Given the description of an element on the screen output the (x, y) to click on. 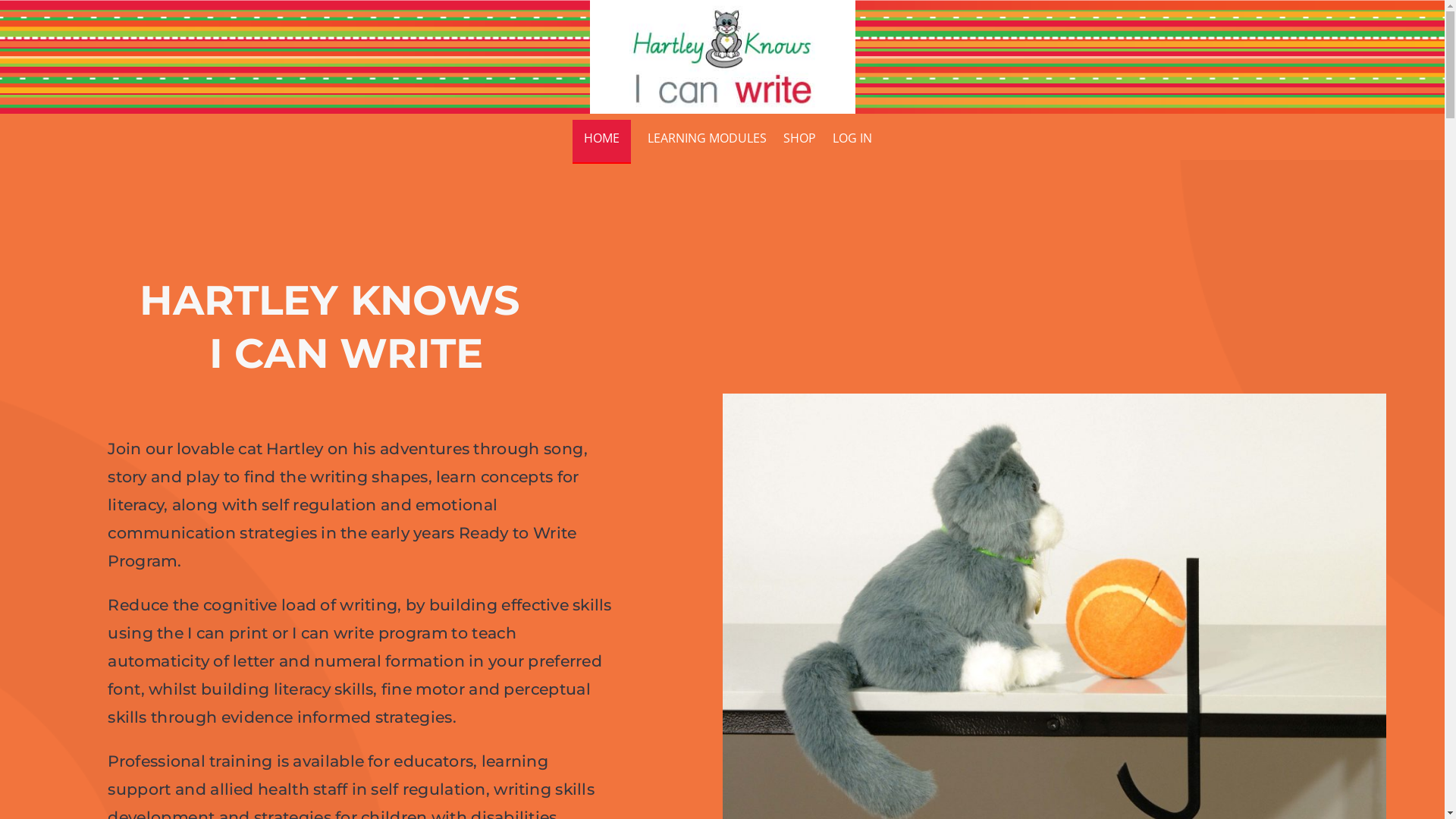
HOME Element type: text (601, 141)
SHOP Element type: text (799, 141)
LEARNING MODULES Element type: text (706, 141)
Hartley-logo Element type: hover (722, 56)
LOG IN Element type: text (852, 141)
